Given the description of an element on the screen output the (x, y) to click on. 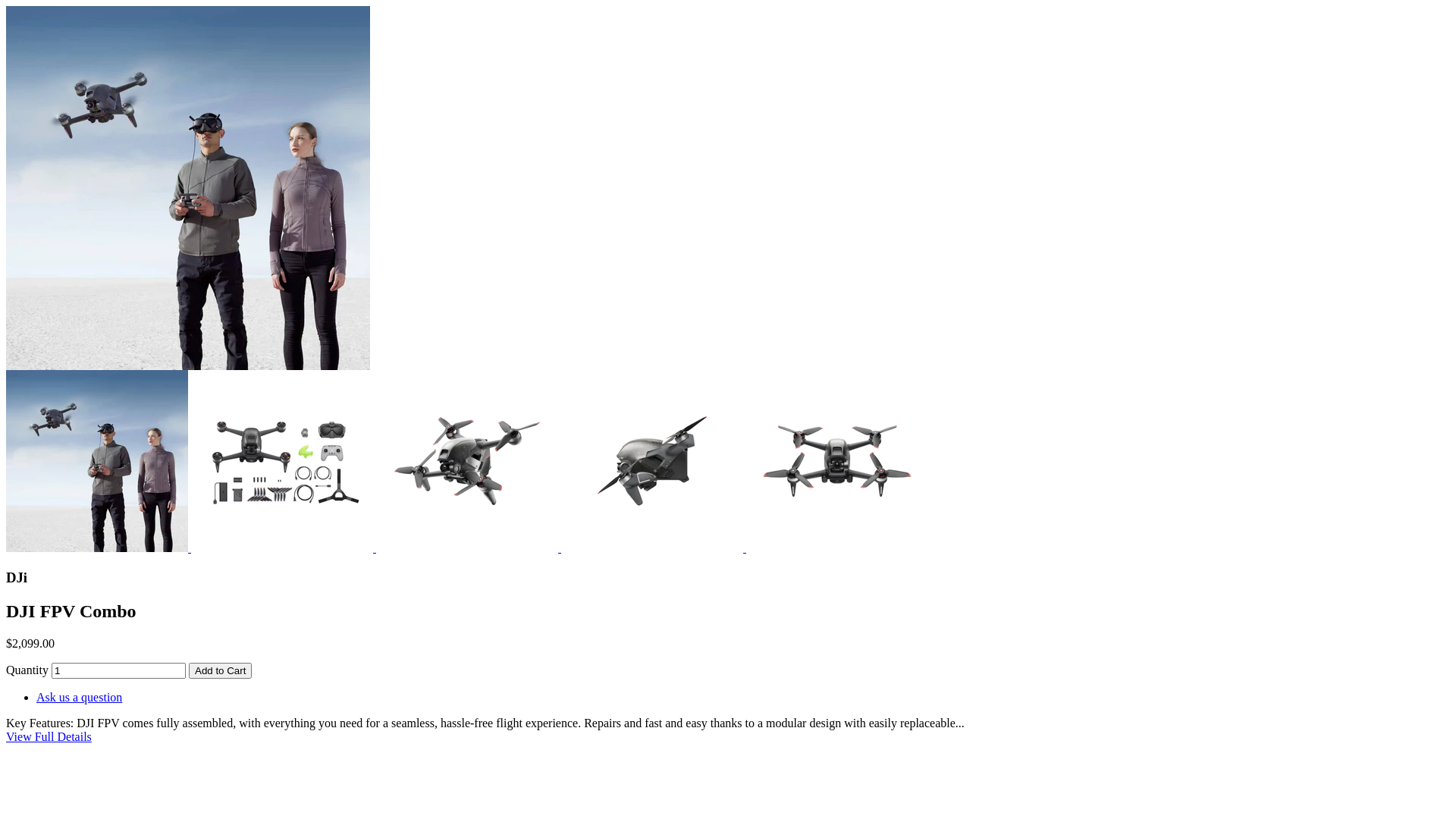
Ask us a question Element type: text (79, 696)
DJI FPV Combo Element type: hover (188, 188)
Add to Cart Element type: text (219, 670)
View Full Details Element type: text (48, 736)
